Given the description of an element on the screen output the (x, y) to click on. 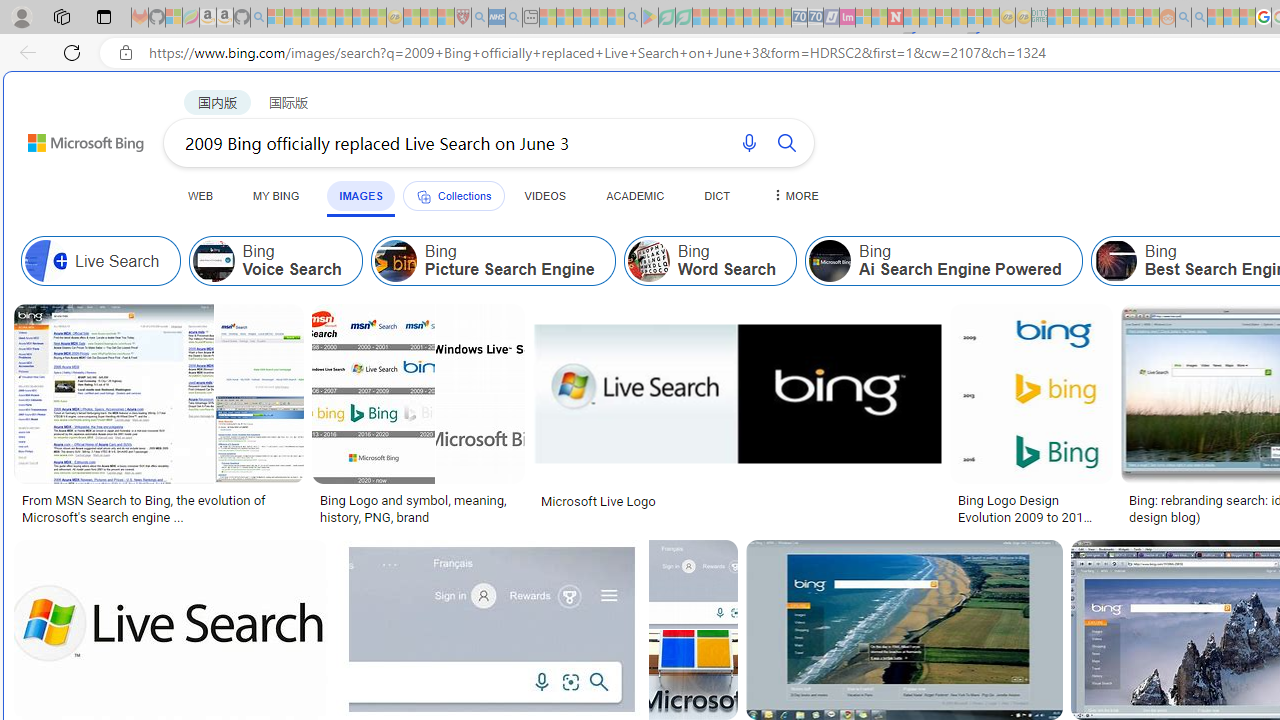
utah sues federal government - Search - Sleeping (513, 17)
Microsoft Live Logo (598, 500)
Pets - MSN - Sleeping (598, 17)
New Report Confirms 2023 Was Record Hot | Watch - Sleeping (343, 17)
